Given the description of an element on the screen output the (x, y) to click on. 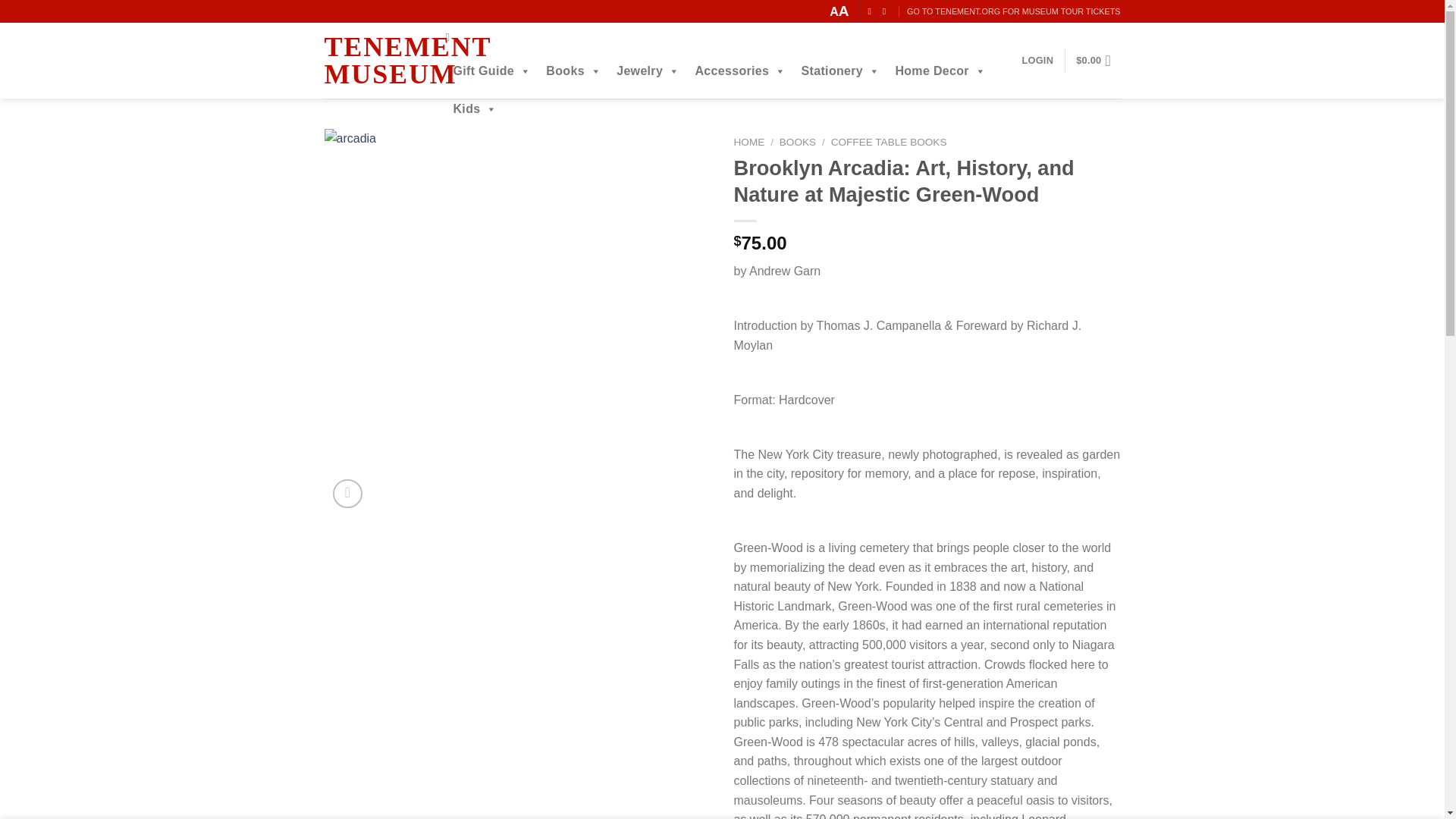
Jewelry (647, 71)
Go To Tenement.org (1013, 11)
Gift Guide (491, 71)
Accessories (740, 71)
Login (1037, 60)
Cart (1097, 60)
Books (573, 71)
Zoom (347, 493)
TENEMENT MUSEUM (381, 60)
GO TO TENEMENT.ORG FOR MUSEUM TOUR TICKETS (1013, 11)
Stationery (840, 71)
Home Decor (939, 71)
